Given the description of an element on the screen output the (x, y) to click on. 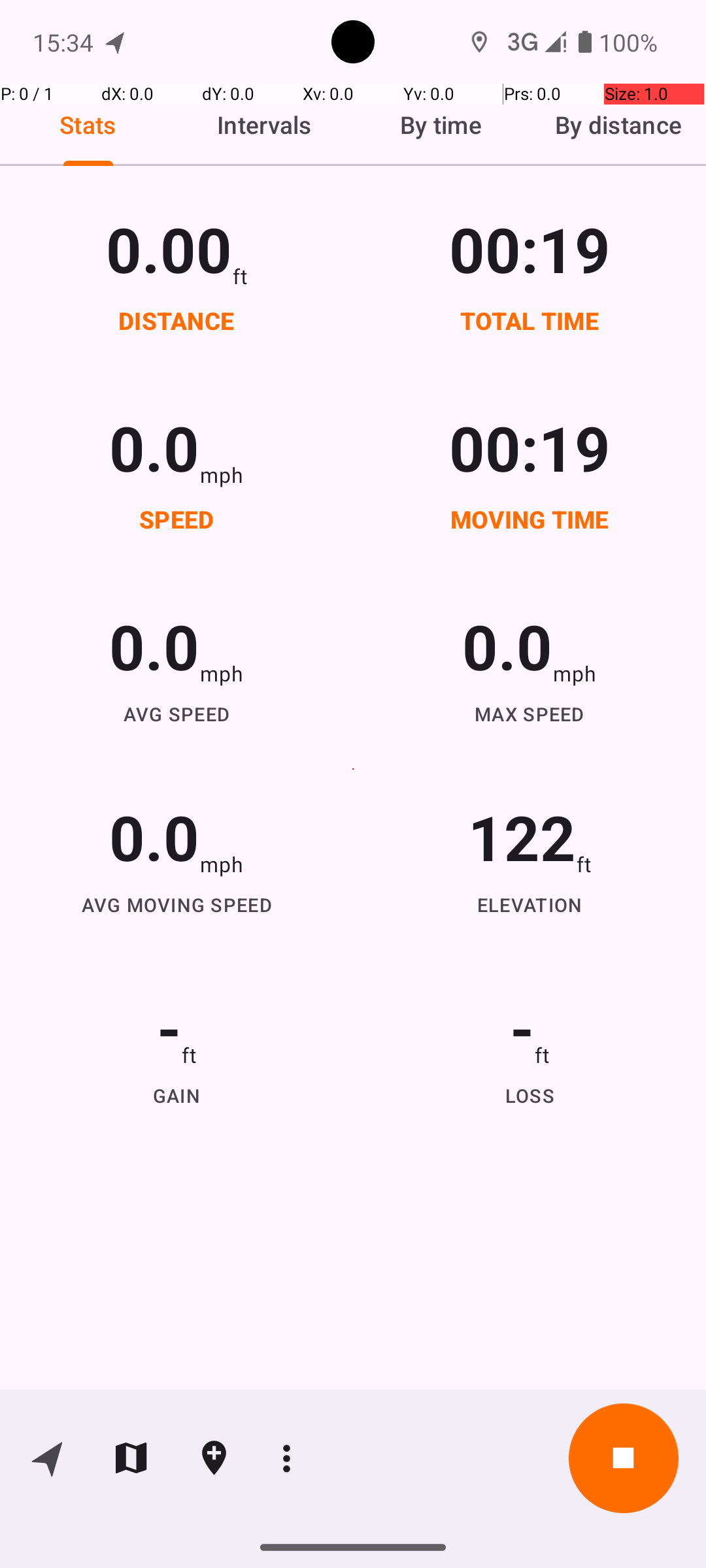
Insert marker Element type: android.widget.Button (213, 1458)
Stop Element type: android.widget.ImageButton (623, 1458)
0.00 Element type: android.widget.TextView (168, 248)
00:19 Element type: android.widget.TextView (529, 248)
0.0 Element type: android.widget.TextView (154, 446)
122 Element type: android.widget.TextView (521, 836)
- Element type: android.widget.TextView (168, 1026)
